Given the description of an element on the screen output the (x, y) to click on. 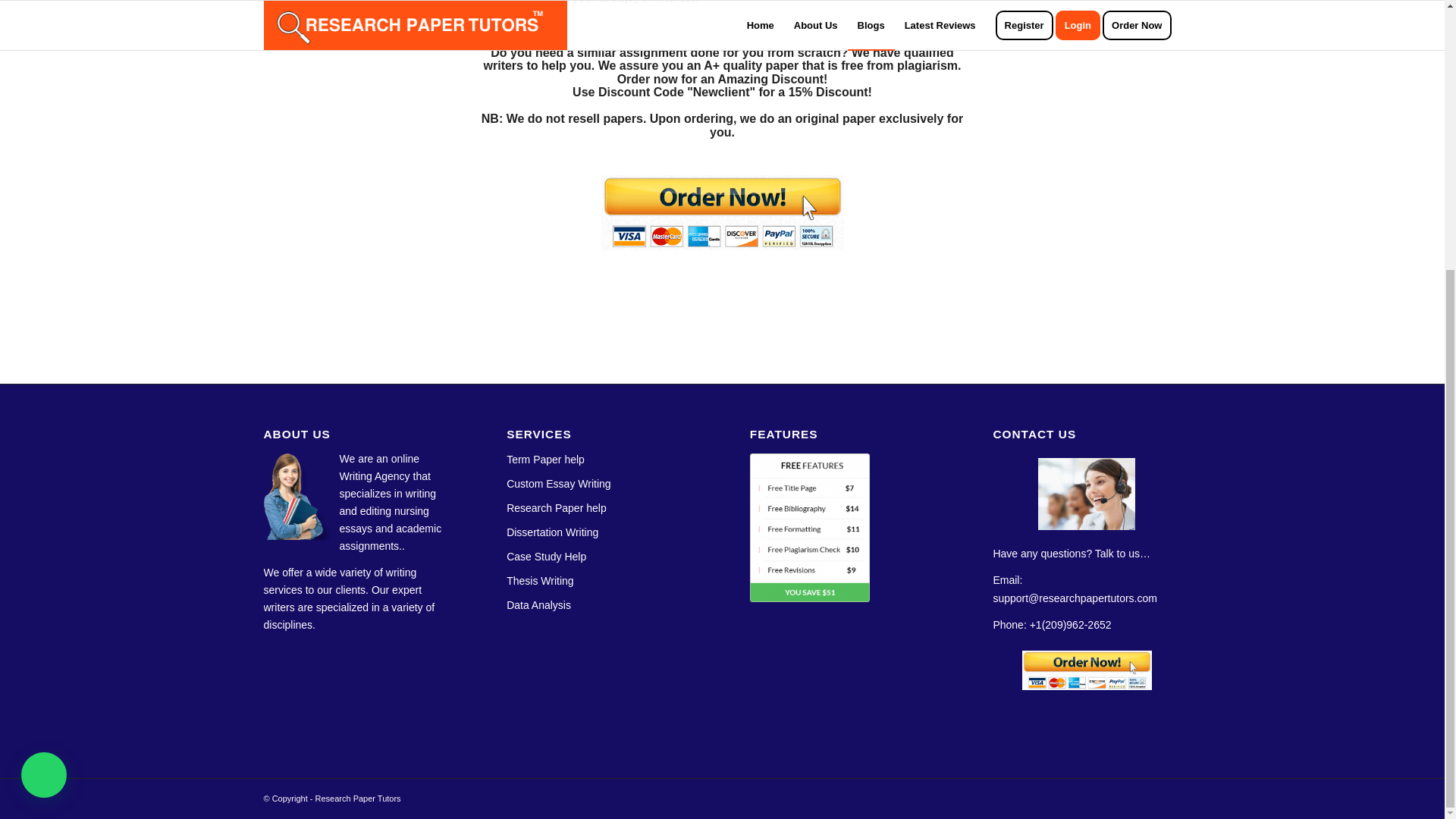
Term Paper help (545, 459)
Custom Essay Writing (558, 483)
Data Analysis (538, 604)
Dissertation Writing (552, 532)
Research Paper help (556, 508)
Thesis Writing (539, 580)
Case Study Help (546, 556)
